Given the description of an element on the screen output the (x, y) to click on. 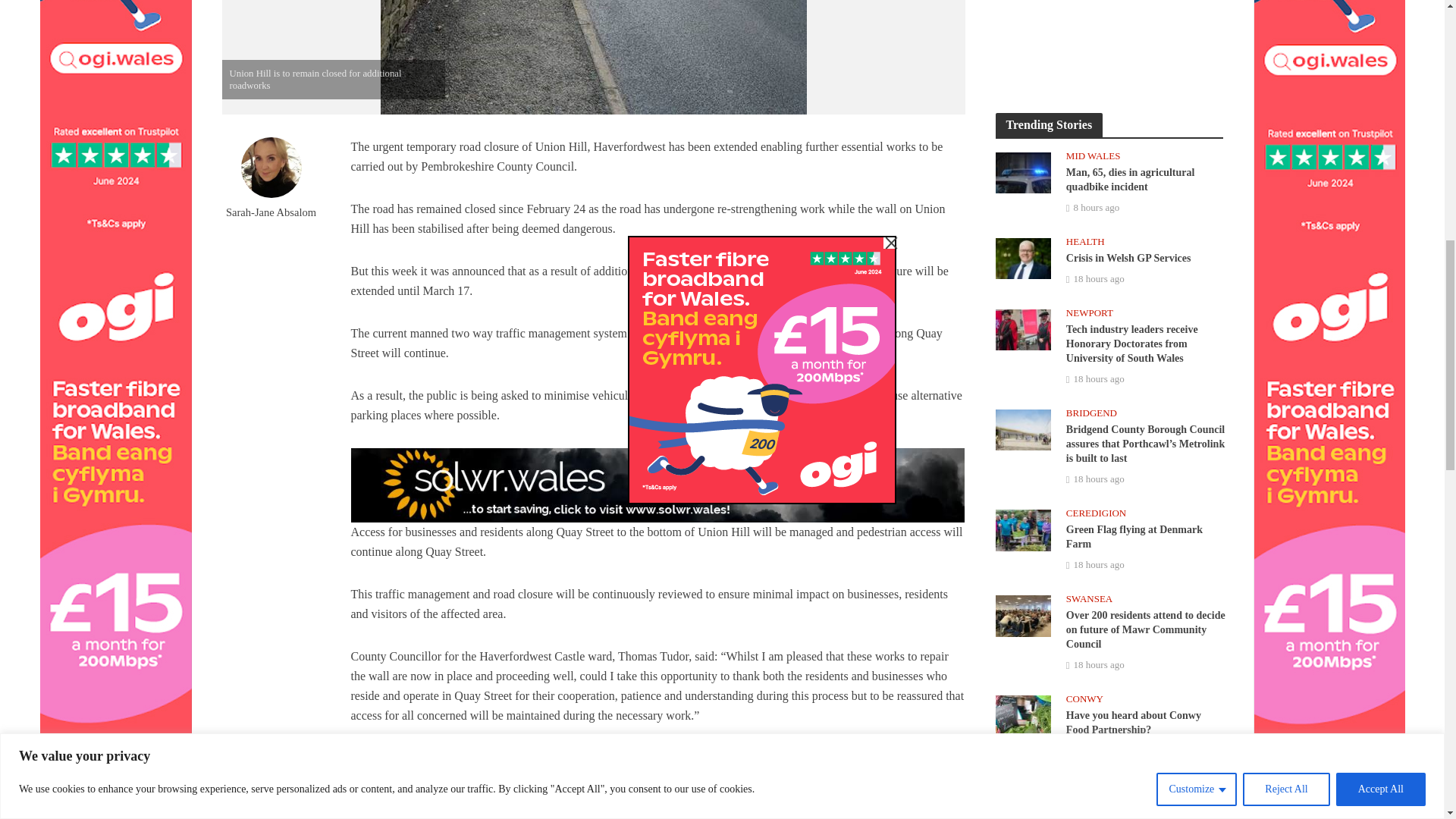
Advertisement (1108, 41)
Green Flag flying at Denmark Farm (1021, 529)
Crisis in Welsh GP Services (1021, 257)
Man, 65, dies in agricultural quadbike incident (1021, 171)
Sarah-Jane Absalom (512, 817)
